Given the description of an element on the screen output the (x, y) to click on. 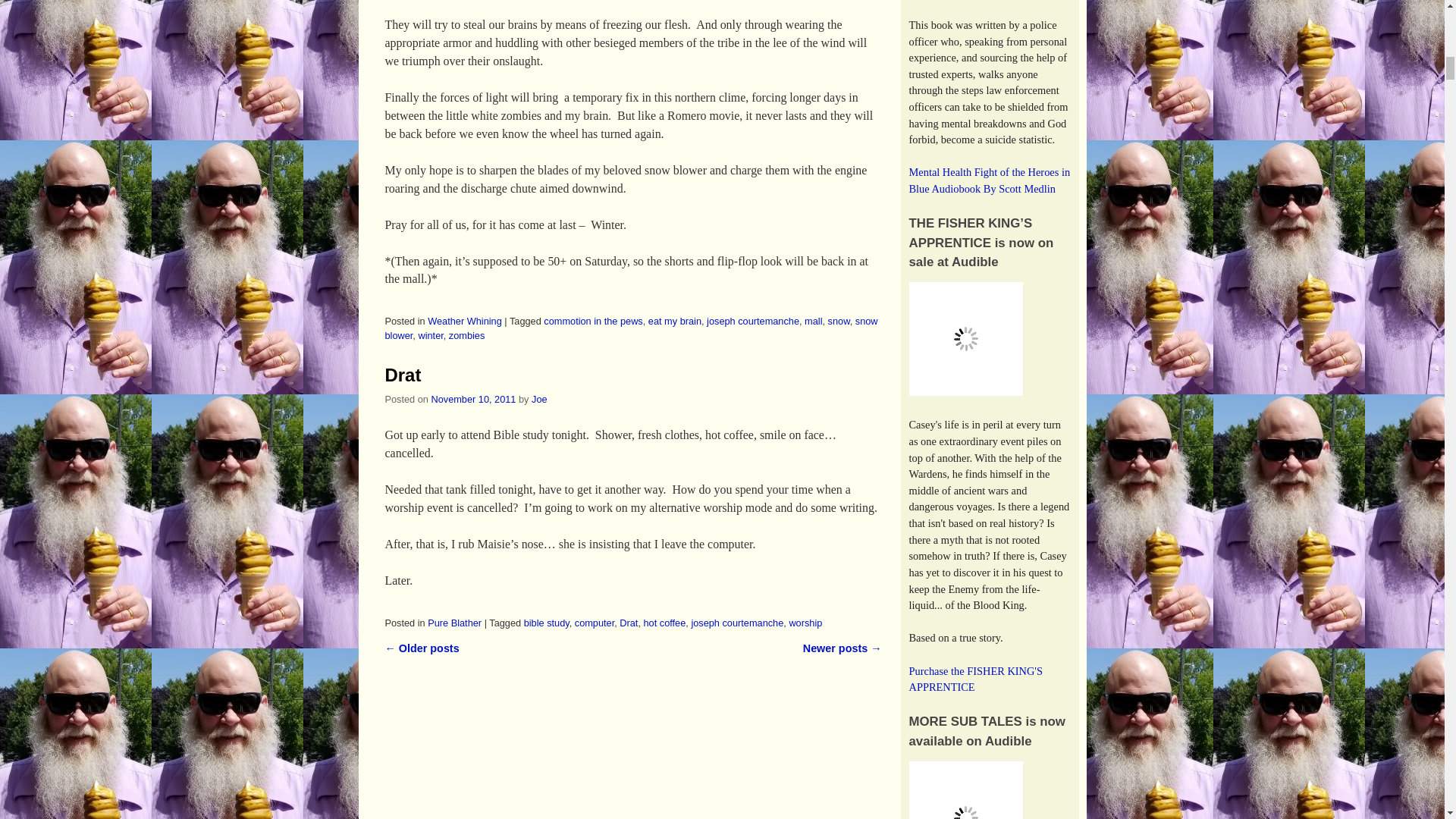
Permalink to Drat (403, 374)
